Given the description of an element on the screen output the (x, y) to click on. 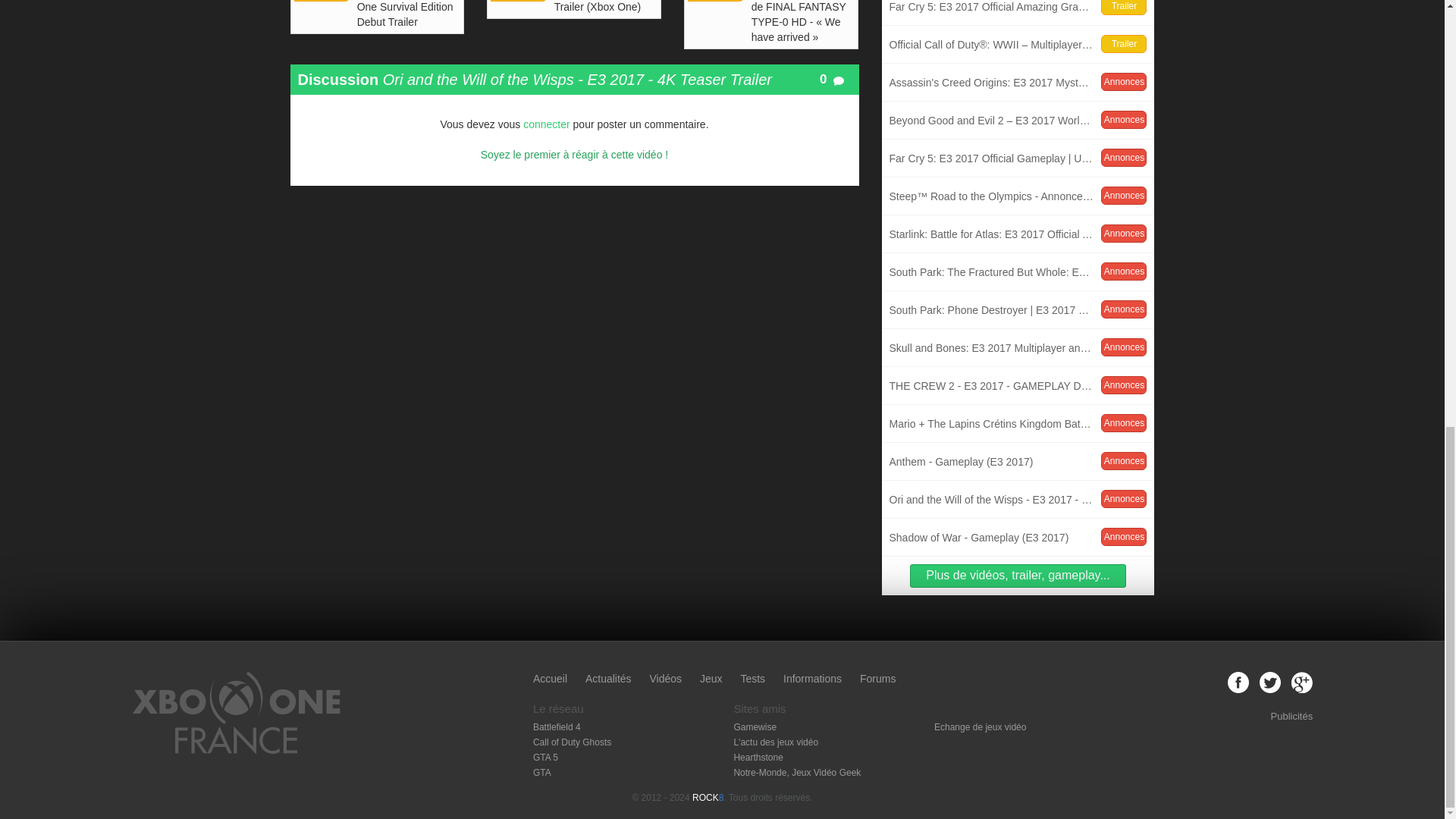
Tests de jeux Xbox One (752, 678)
Trailer (321, 0)
Forums Xbox One (877, 678)
State of Decay: Year-One Survival Edition Debut Trailer (408, 15)
Jeux Xbox One (711, 678)
Notre-Monde - Blog game (796, 772)
Trailer (714, 0)
Trailer (518, 0)
Xbox One (236, 751)
connecter (545, 123)
